Given the description of an element on the screen output the (x, y) to click on. 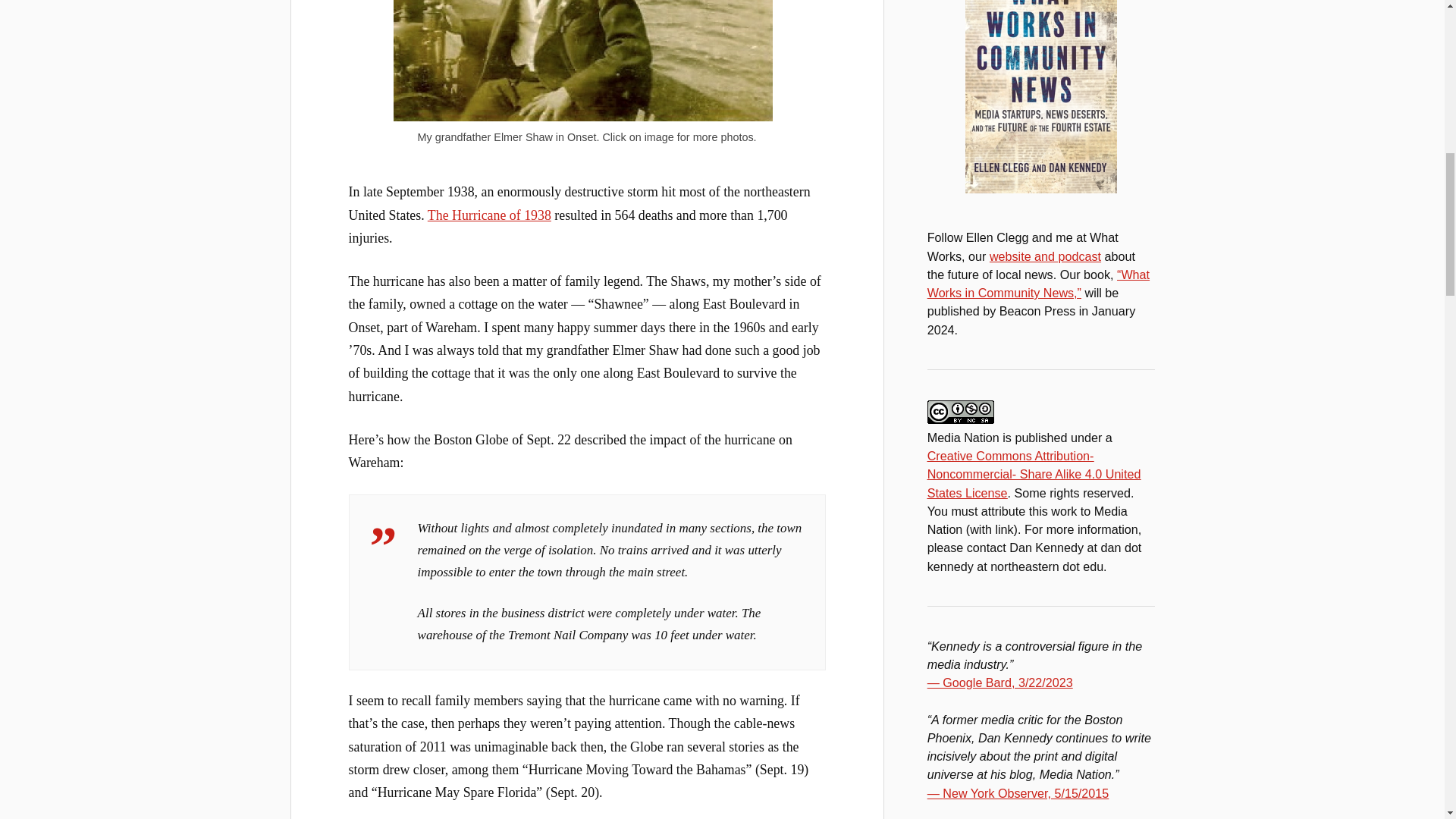
The Hurricane of 1938 (489, 215)
